Given the description of an element on the screen output the (x, y) to click on. 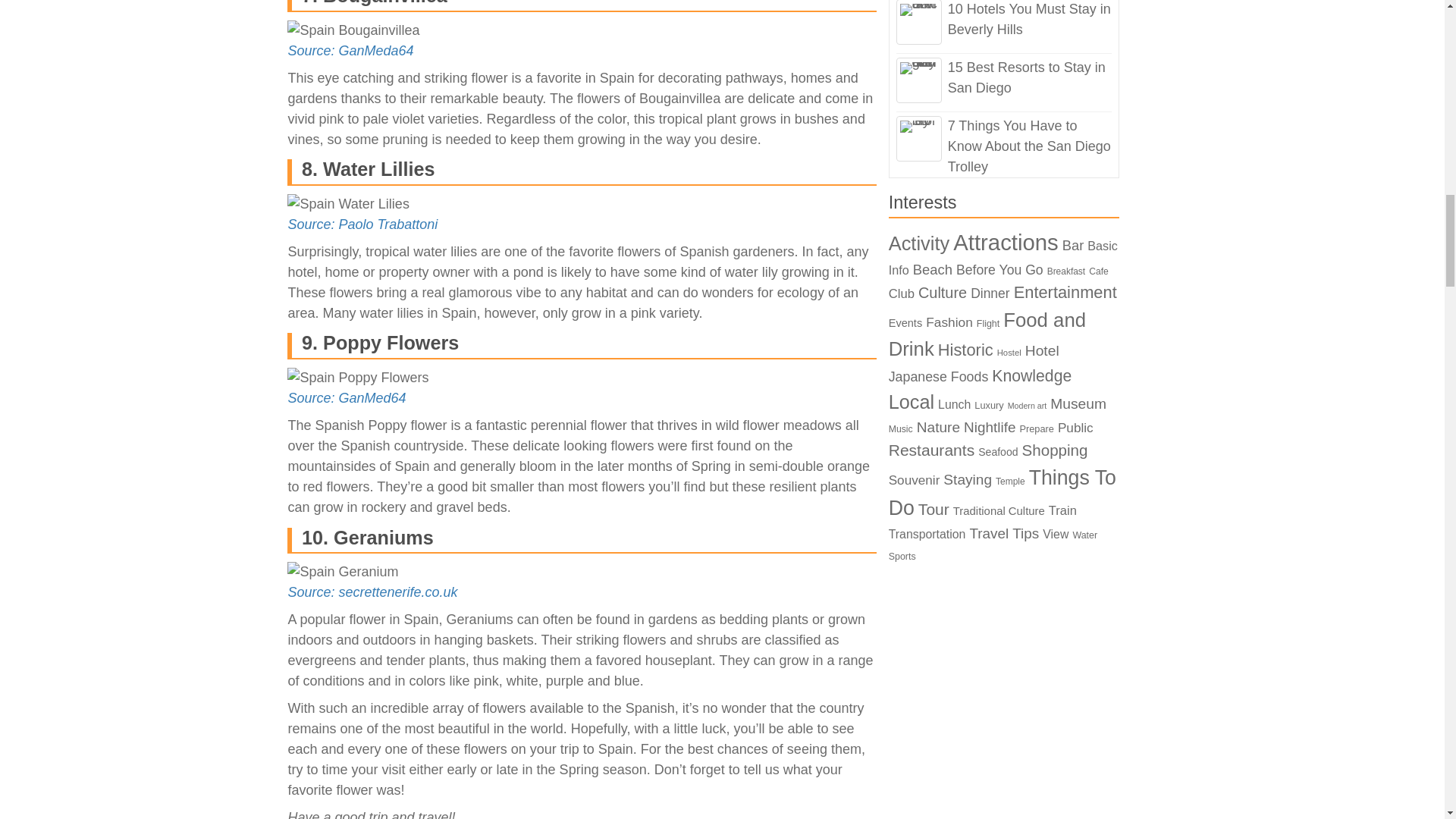
Source: Paolo Trabattoni (362, 224)
Source: secrettenerife.co.uk (371, 591)
Source: GanMeda64 (349, 50)
Source: GanMed64 (346, 397)
